Given the description of an element on the screen output the (x, y) to click on. 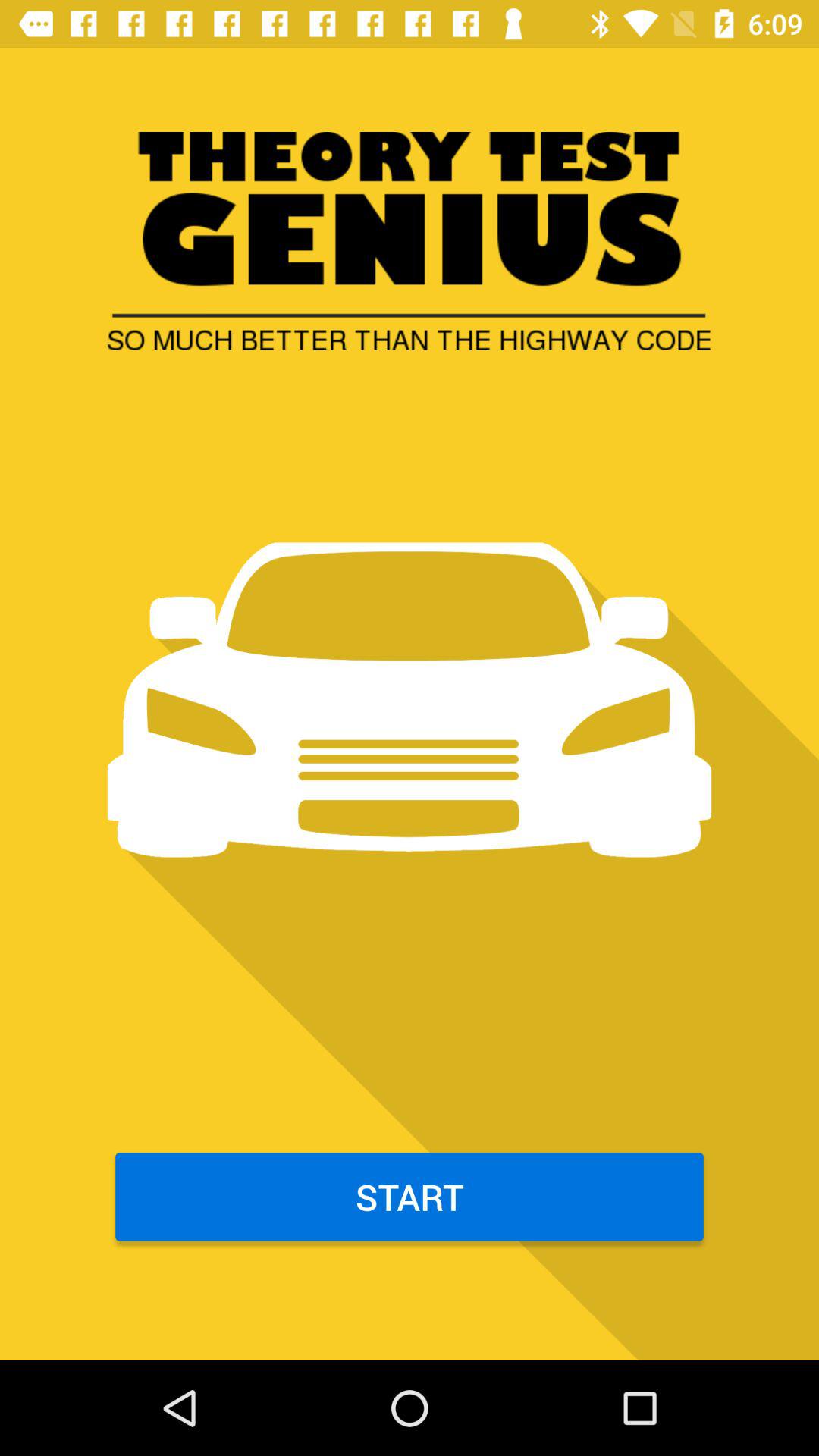
scroll to the start (409, 1196)
